Given the description of an element on the screen output the (x, y) to click on. 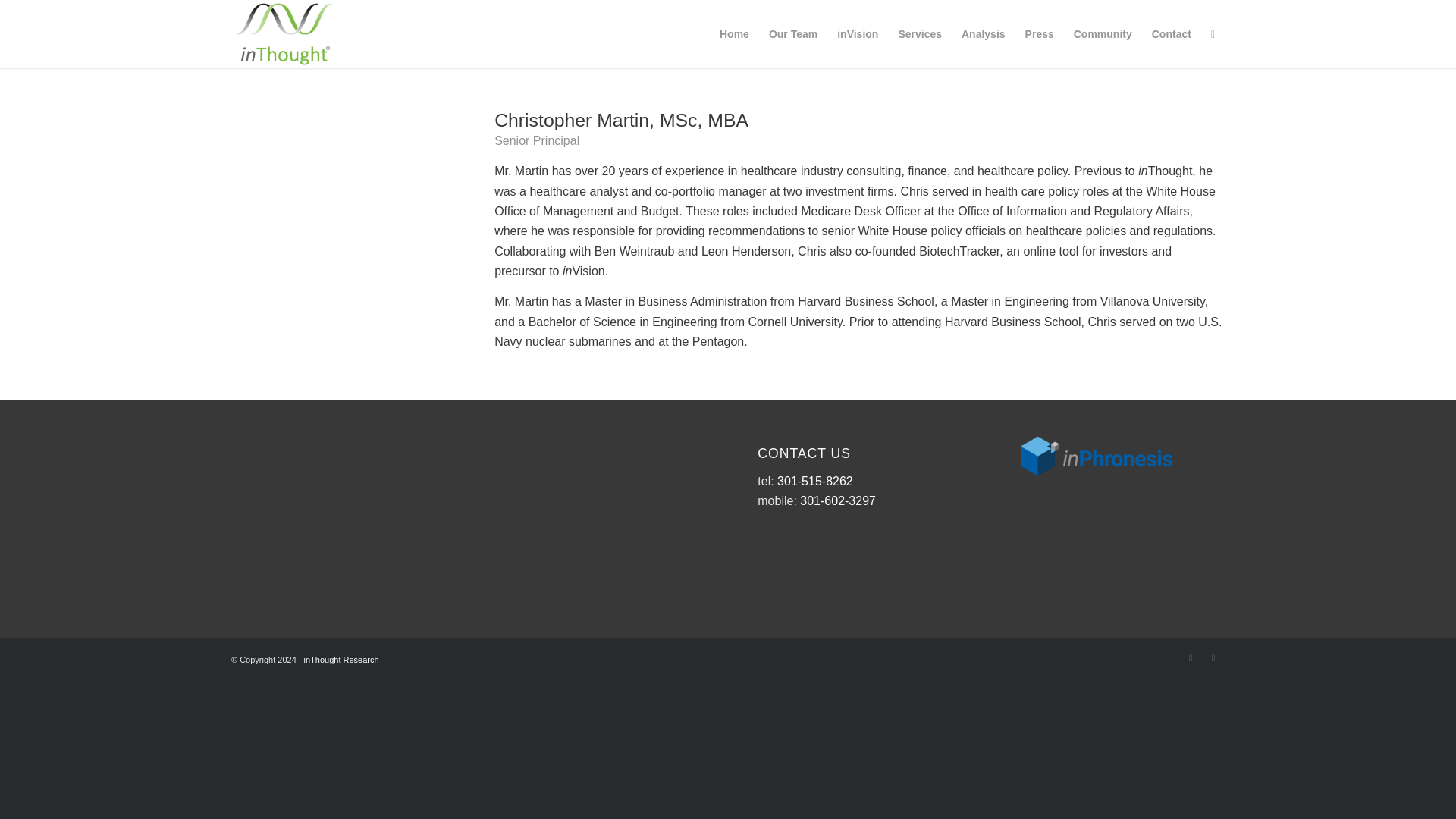
301-602-3297 (837, 500)
inVision (857, 33)
Twitter (1190, 657)
Services (920, 33)
Community (1102, 33)
Christopher Martin Edit (332, 195)
Our Team (792, 33)
Linkedin (1213, 657)
inThought Research (341, 659)
Analysis (983, 33)
